Given the description of an element on the screen output the (x, y) to click on. 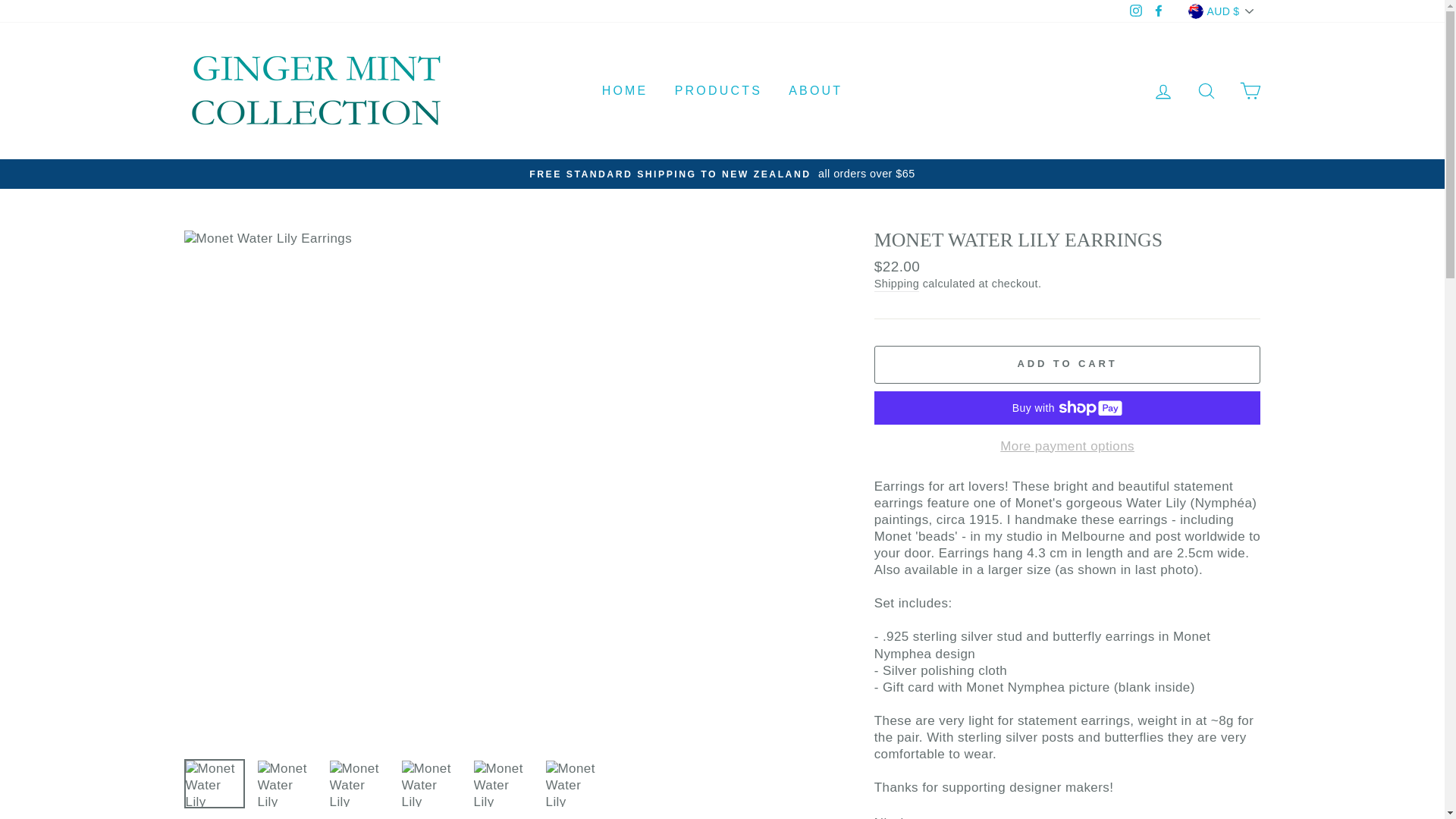
Ginger Mint Collection on Facebook (1158, 11)
Ginger Mint Collection on Instagram (1135, 11)
